Given the description of an element on the screen output the (x, y) to click on. 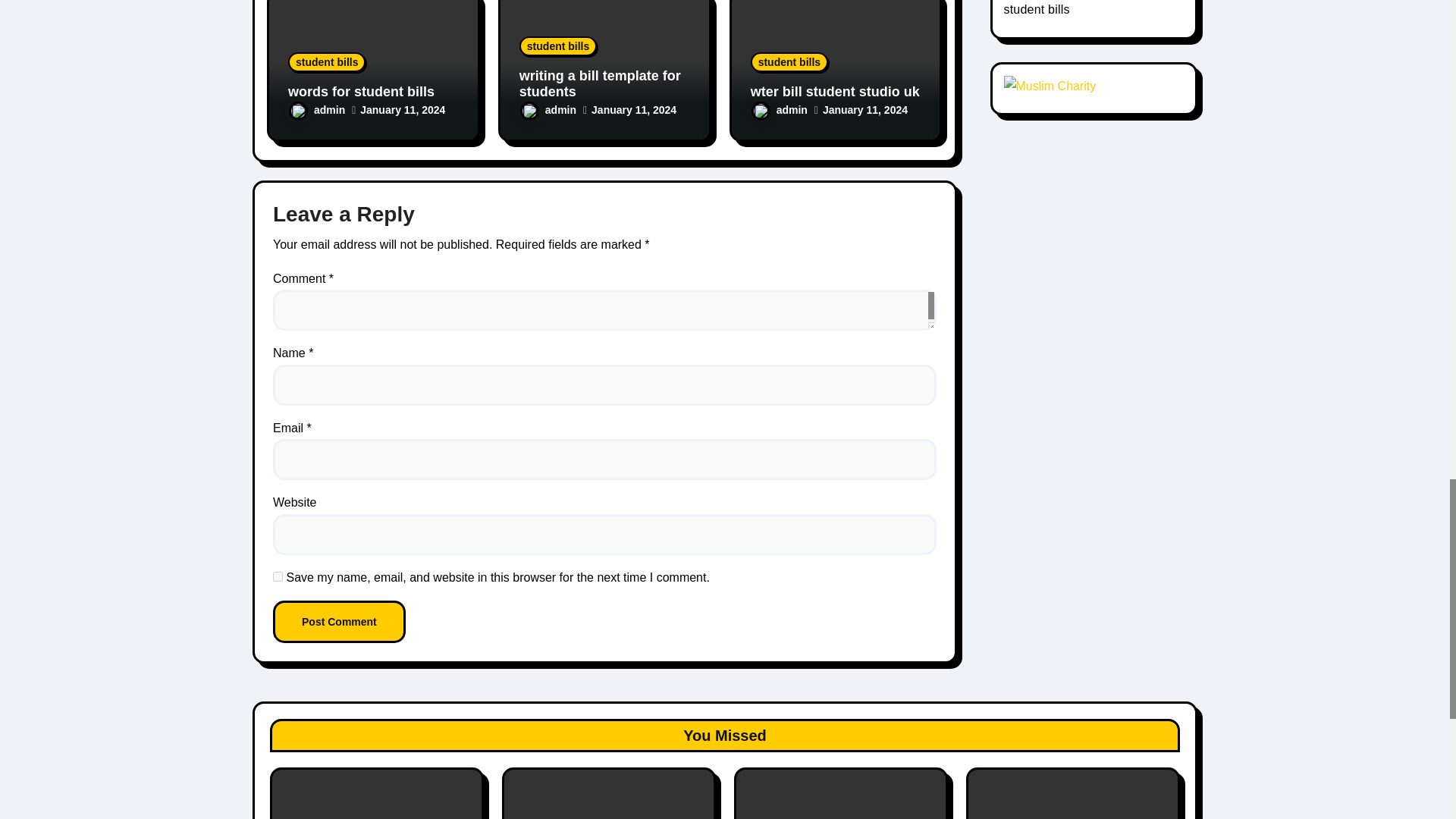
yes (277, 576)
Permalink to: words for student bills (360, 91)
writing a bill template for students (600, 83)
Permalink to: writing a bill template for students (600, 83)
admin (316, 110)
student bills (326, 62)
January 11, 2024 (402, 110)
student bills (557, 46)
Post Comment (339, 621)
words for student bills (360, 91)
